Given the description of an element on the screen output the (x, y) to click on. 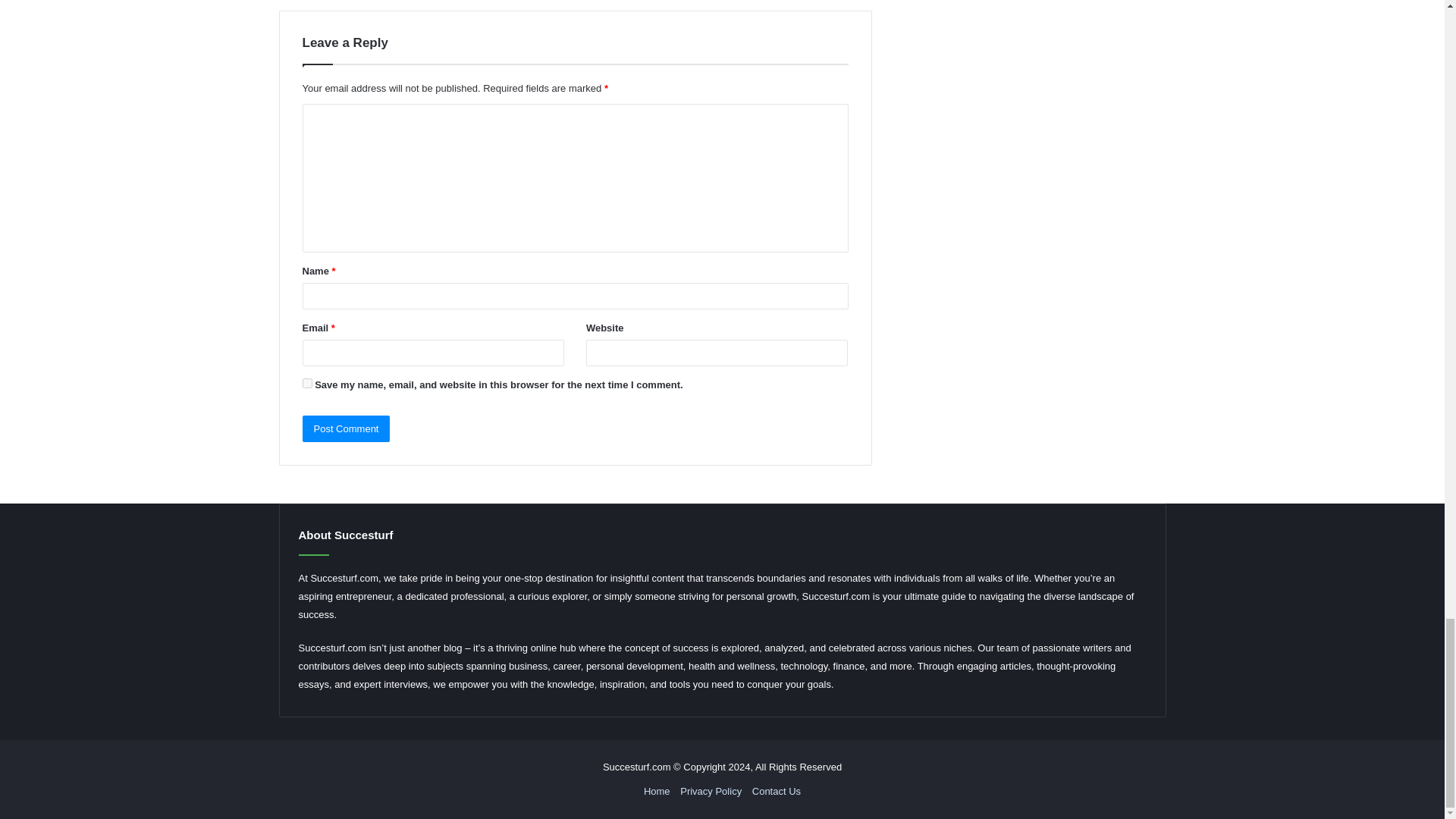
yes (306, 383)
Post Comment (345, 428)
